Given the description of an element on the screen output the (x, y) to click on. 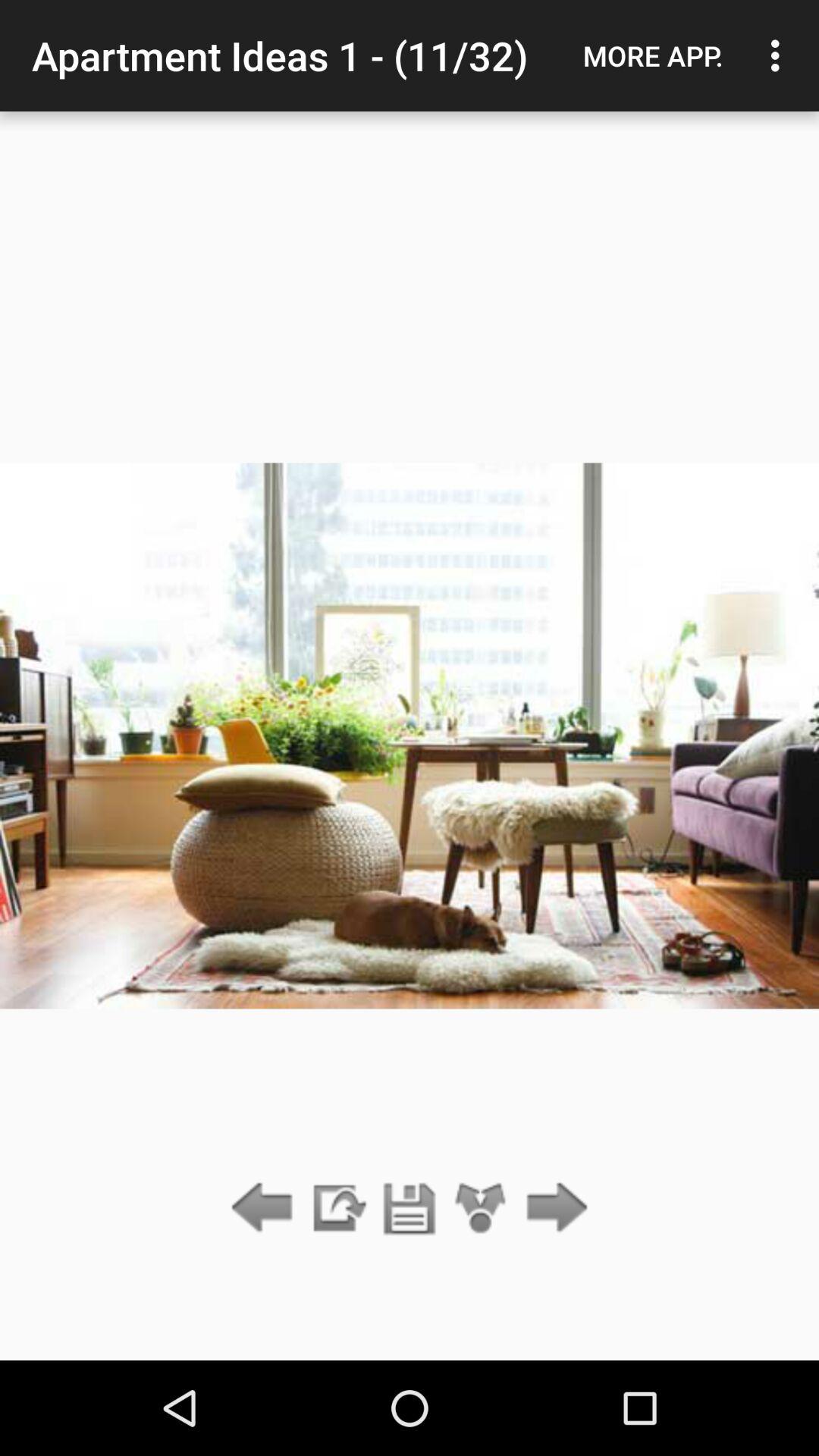
select icon next to the apartment ideas 1 app (653, 55)
